Given the description of an element on the screen output the (x, y) to click on. 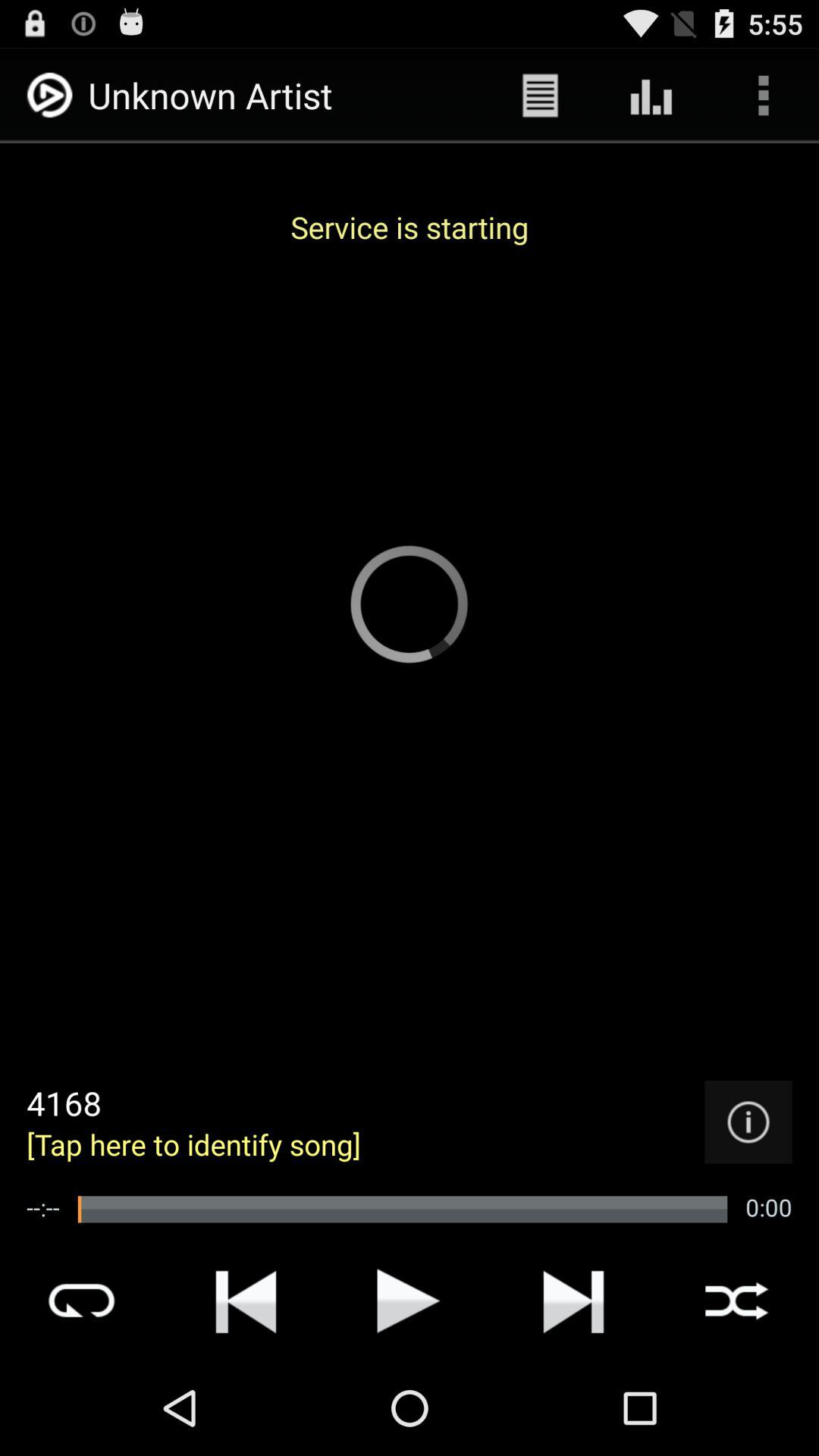
select item below the tap here to icon (402, 1209)
